Given the description of an element on the screen output the (x, y) to click on. 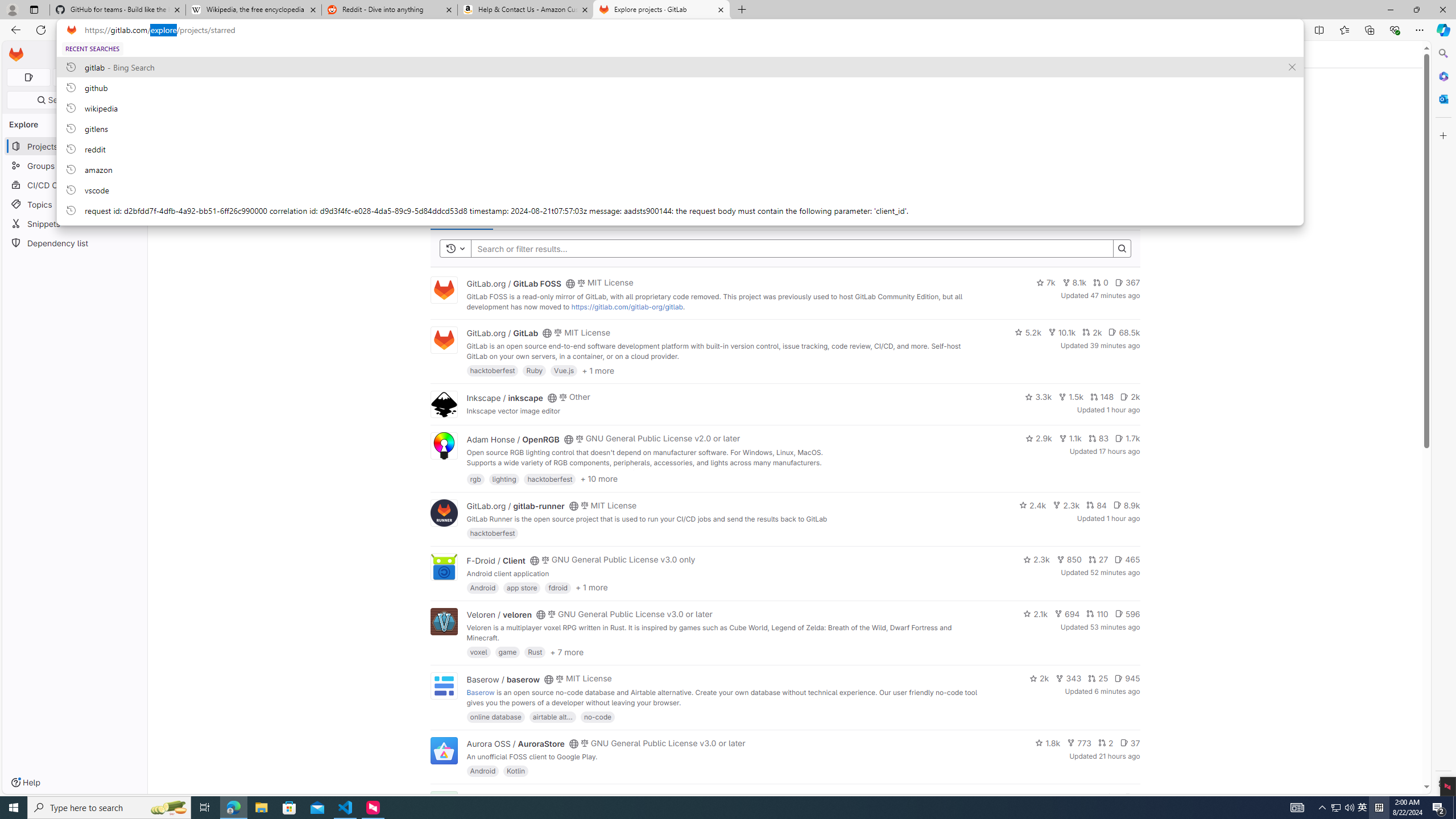
0 (1100, 282)
game (507, 651)
Homepage (16, 54)
Rust (535, 651)
7k (1045, 282)
343 (1068, 678)
2 (1105, 742)
online database (495, 715)
Edouard Klein / falsisign (512, 797)
